Given the description of an element on the screen output the (x, y) to click on. 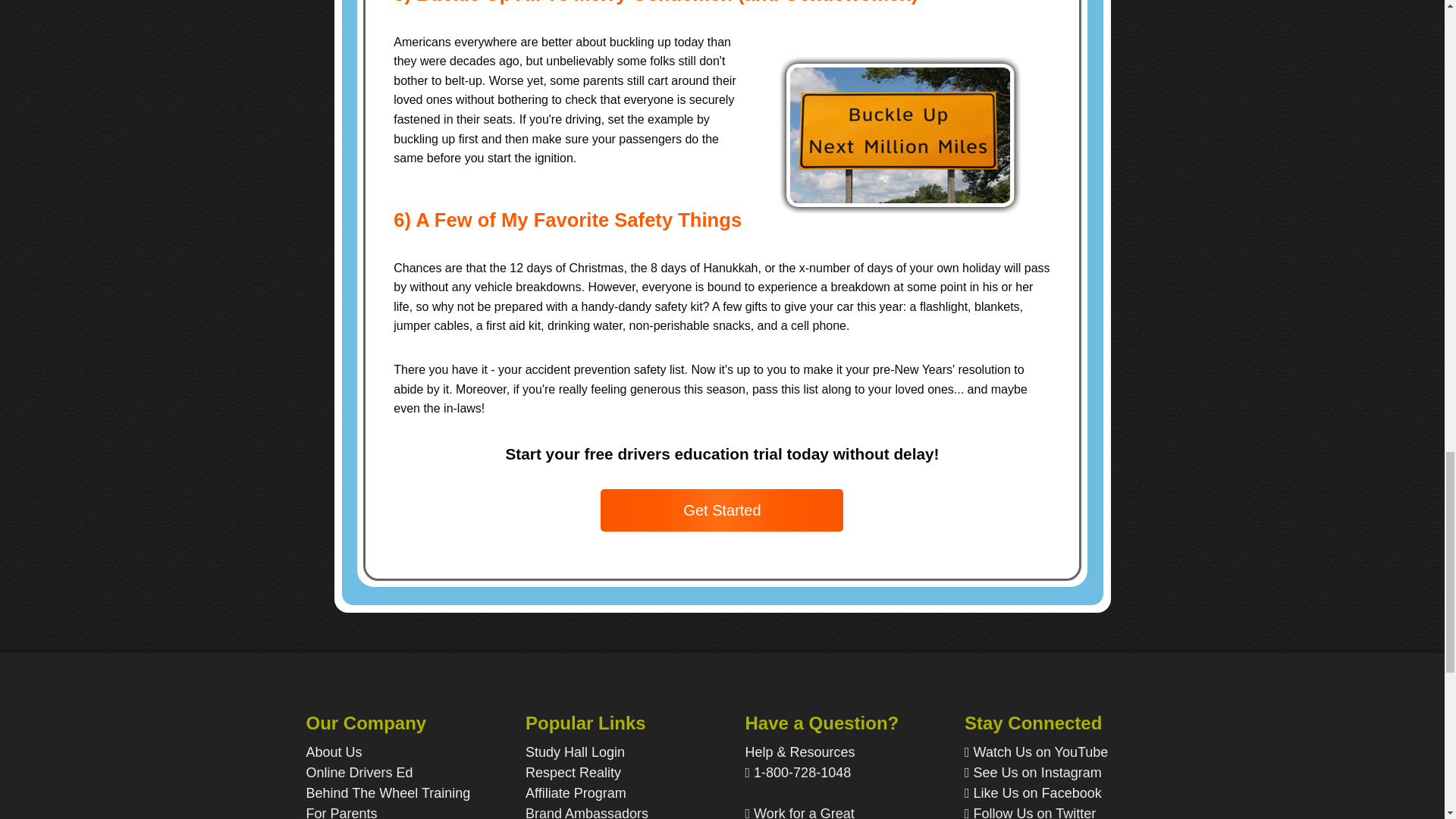
Watch Us on YouTube (1050, 752)
Online Drivers Ed (359, 772)
Follow Us on Twitter (1050, 811)
Teen Driver Safety Program (573, 772)
See Us on Instagram (1050, 772)
About Us (333, 752)
Brand Ambassadors (586, 812)
Affiliate Program (575, 792)
Get Started with Drivers Ed Direct (721, 509)
Behind The Wheel Training (387, 792)
